Given the description of an element on the screen output the (x, y) to click on. 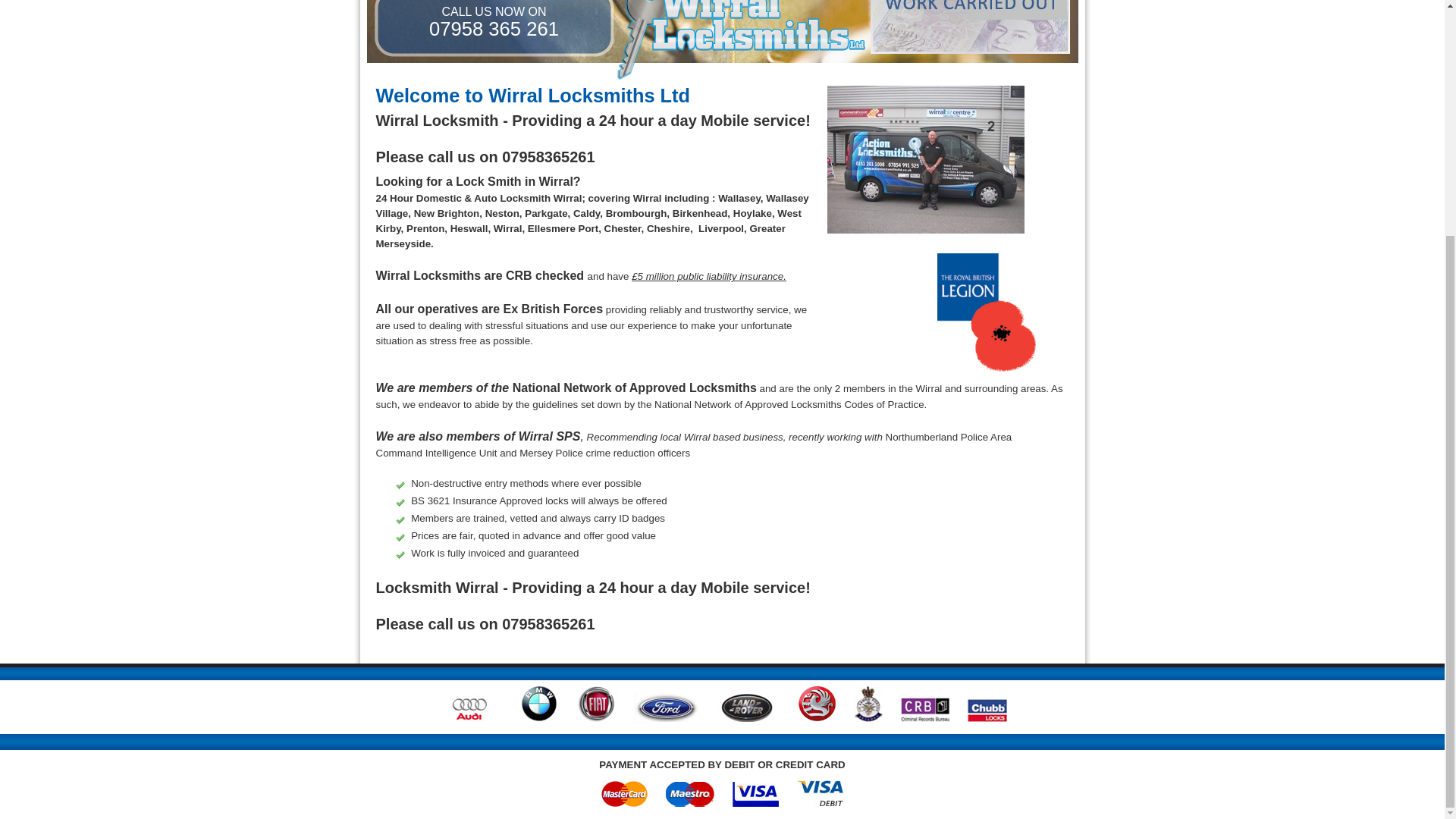
National Network of Approved Locksmiths (634, 387)
